Given the description of an element on the screen output the (x, y) to click on. 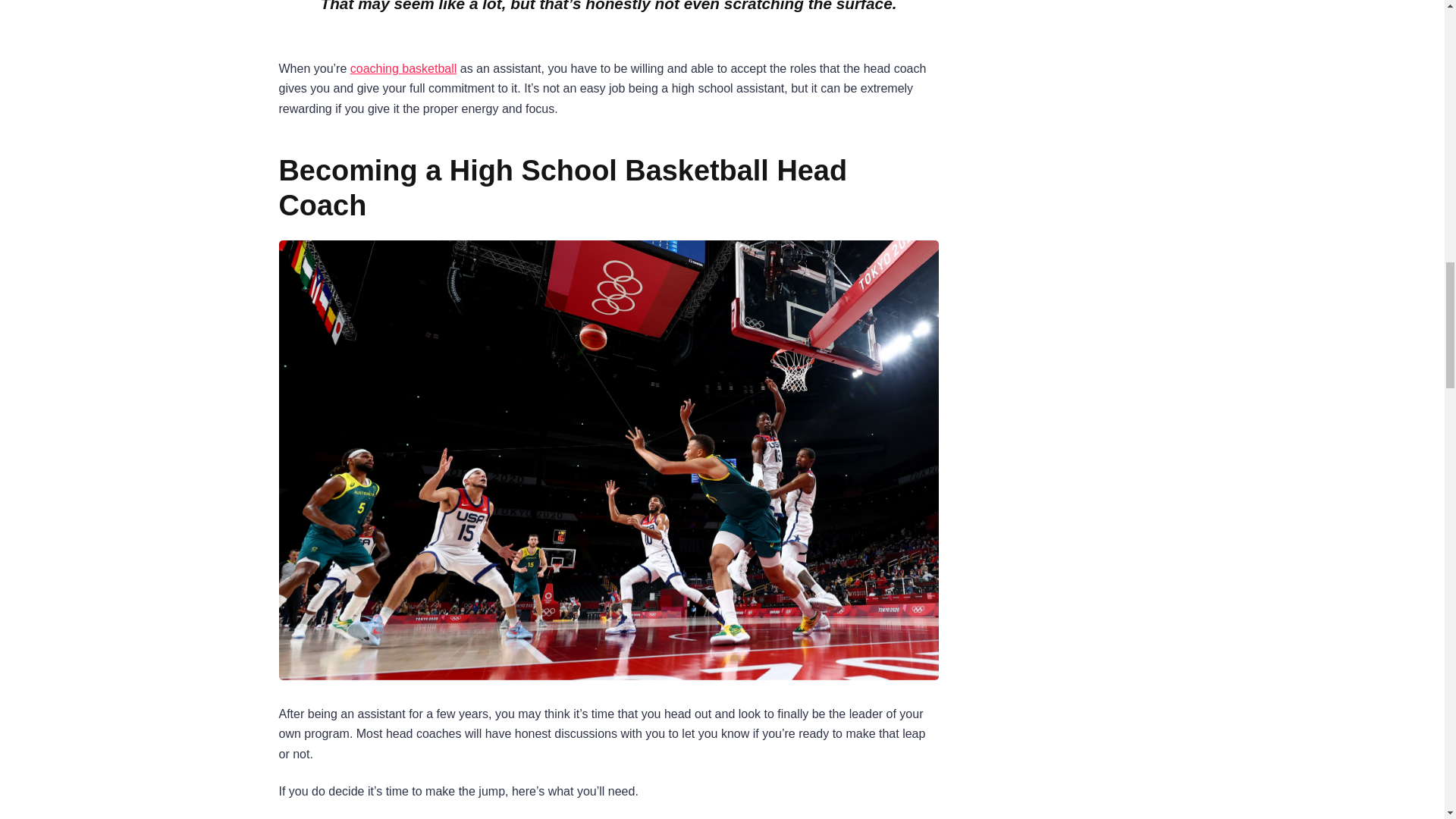
coaching basketball (403, 68)
